Given the description of an element on the screen output the (x, y) to click on. 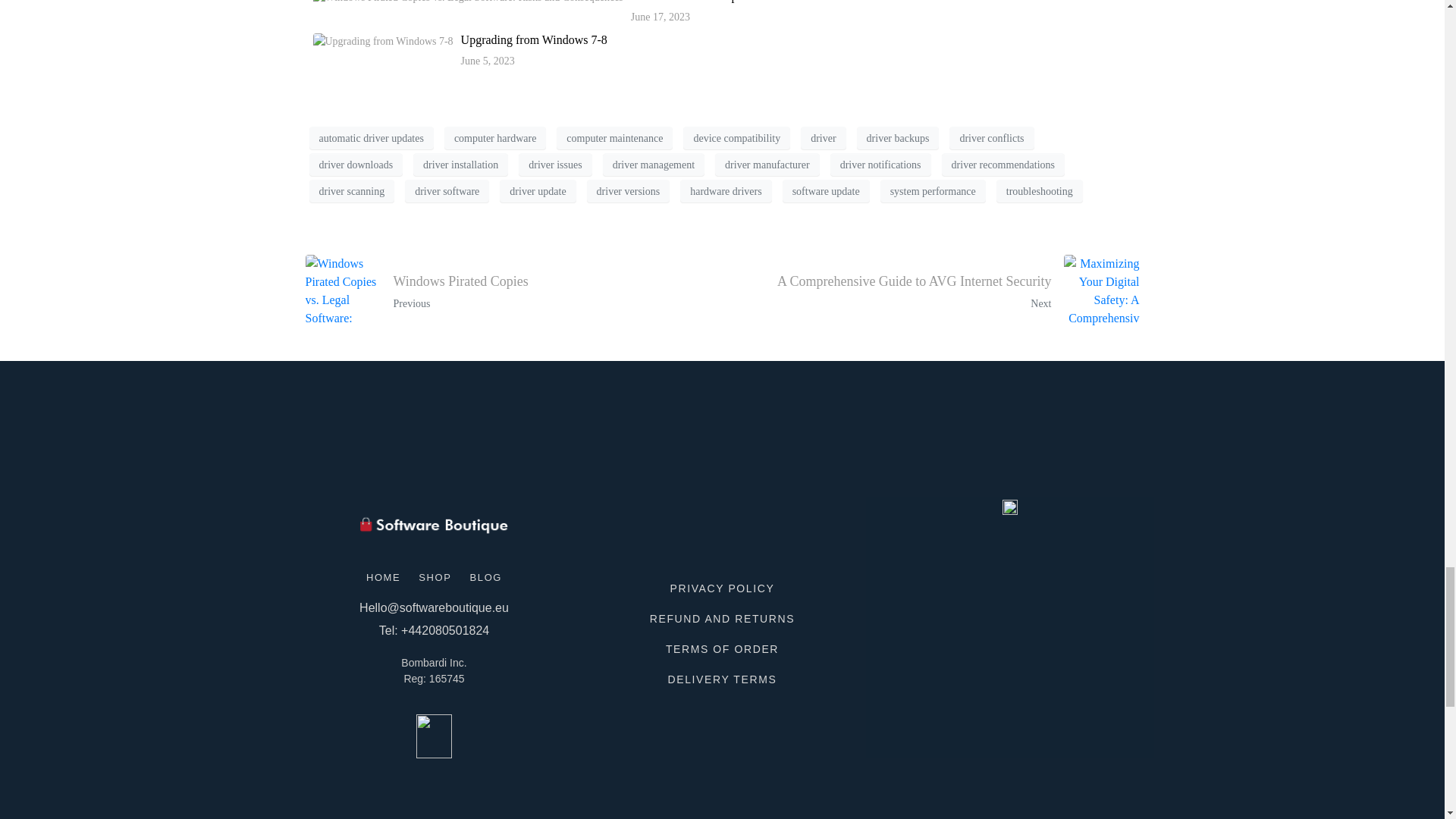
A Comprehensive Guide to AVG Internet Security (936, 292)
Upgrading from Windows 7-8 (534, 39)
computer hardware (495, 137)
Windows Pirated Copies (690, 1)
Windows Pirated Copies (690, 1)
Windows Pirated Copies (508, 292)
Upgrading from Windows 7-8 (534, 39)
automatic driver updates (370, 137)
computer maintenance (614, 137)
